Given the description of an element on the screen output the (x, y) to click on. 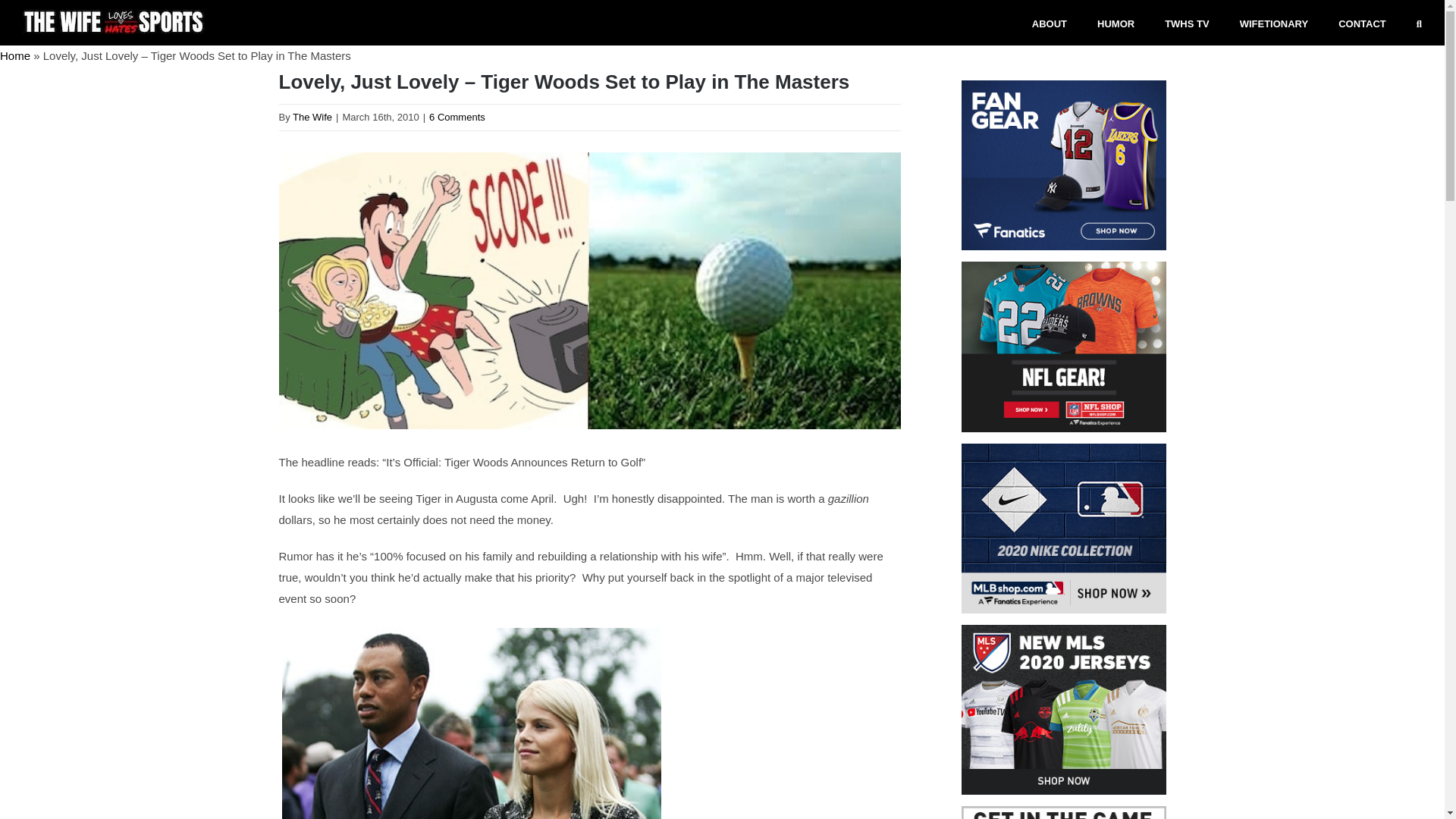
The Wife (311, 116)
WIFETIONARY (1274, 22)
Home (15, 55)
CONTACT (1362, 22)
TWHS TV (1186, 22)
6 Comments (456, 116)
Posts by The Wife (311, 116)
